Given the description of an element on the screen output the (x, y) to click on. 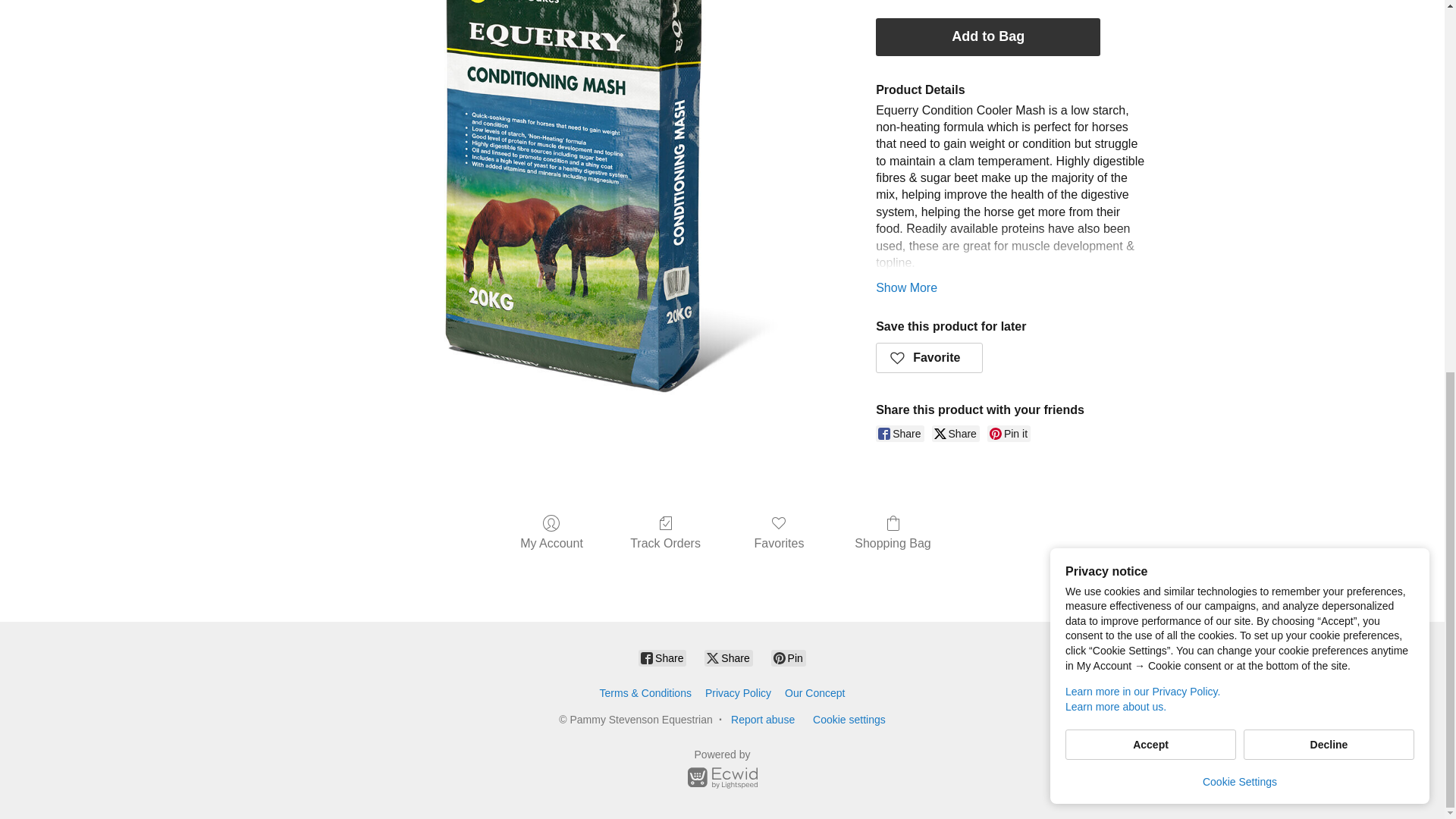
Pin it (1008, 433)
Share (955, 433)
Favorite (929, 358)
Add to Bag (988, 37)
Show More (906, 287)
Share (899, 433)
